Given the description of an element on the screen output the (x, y) to click on. 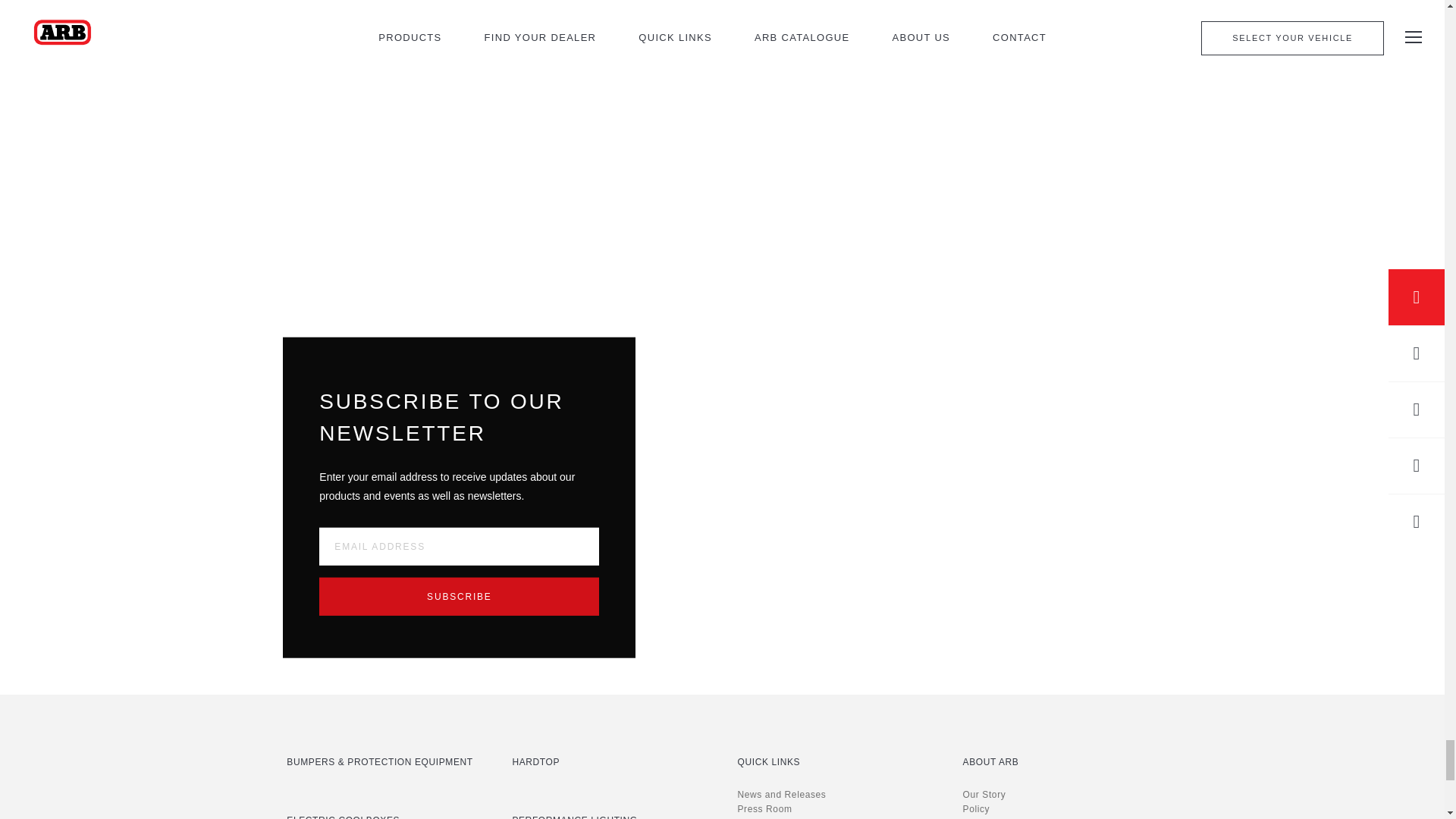
News and Releases (721, 27)
Subscribe (458, 596)
4X4 Culture (240, 27)
